Given the description of an element on the screen output the (x, y) to click on. 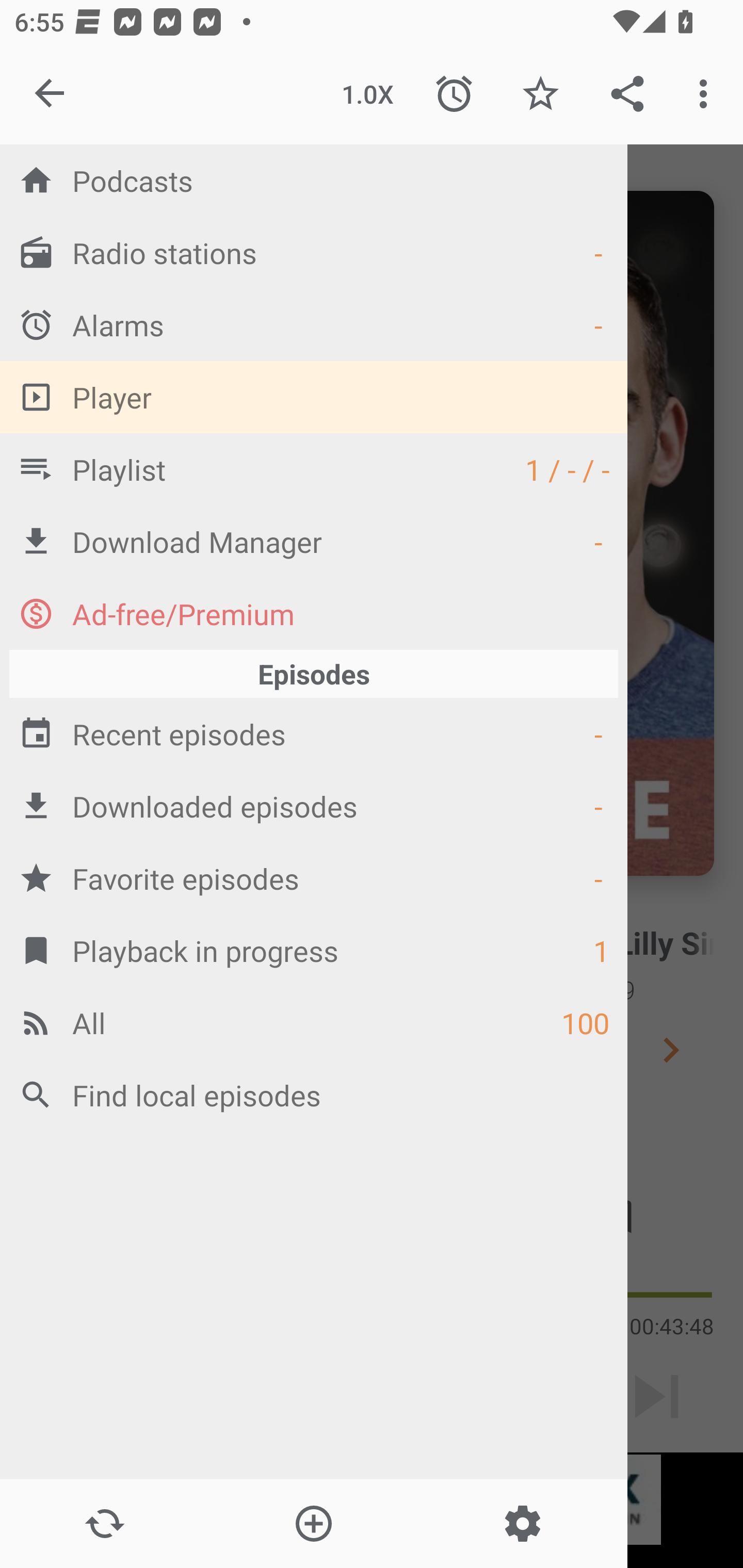
Close navigation sidebar (50, 93)
1.0X (366, 93)
Sleep Timer (453, 93)
Favorite (540, 93)
Share (626, 93)
More options (706, 93)
Podcasts (313, 180)
Radio stations  -  (313, 252)
Alarms  -  (313, 324)
Player (313, 396)
Playlist 1 / - / - (313, 468)
Download Manager  -  (313, 540)
Ad-free/Premium (313, 613)
Recent episodes  -  (313, 733)
Downloaded episodes  -  (313, 805)
Favorite episodes  -  (313, 878)
Playback in progress 1 (313, 950)
All 100 (313, 1022)
Find local episodes (313, 1094)
Update (104, 1523)
Add new Podcast (312, 1523)
Settings (522, 1523)
